Given the description of an element on the screen output the (x, y) to click on. 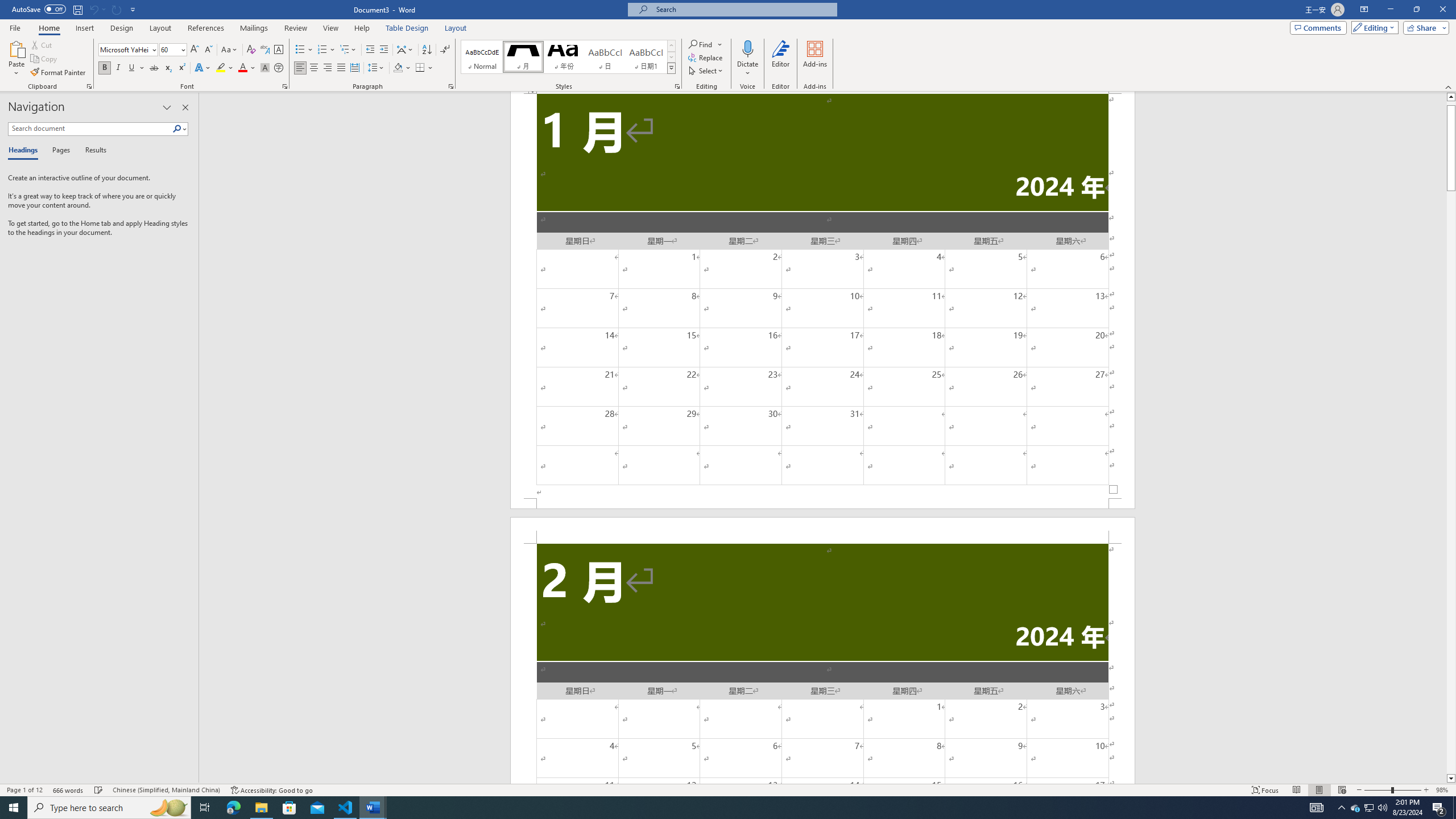
Page 1 content (822, 295)
Page Number Page 1 of 12 (24, 790)
Font Color RGB(255, 0, 0) (241, 67)
